Given the description of an element on the screen output the (x, y) to click on. 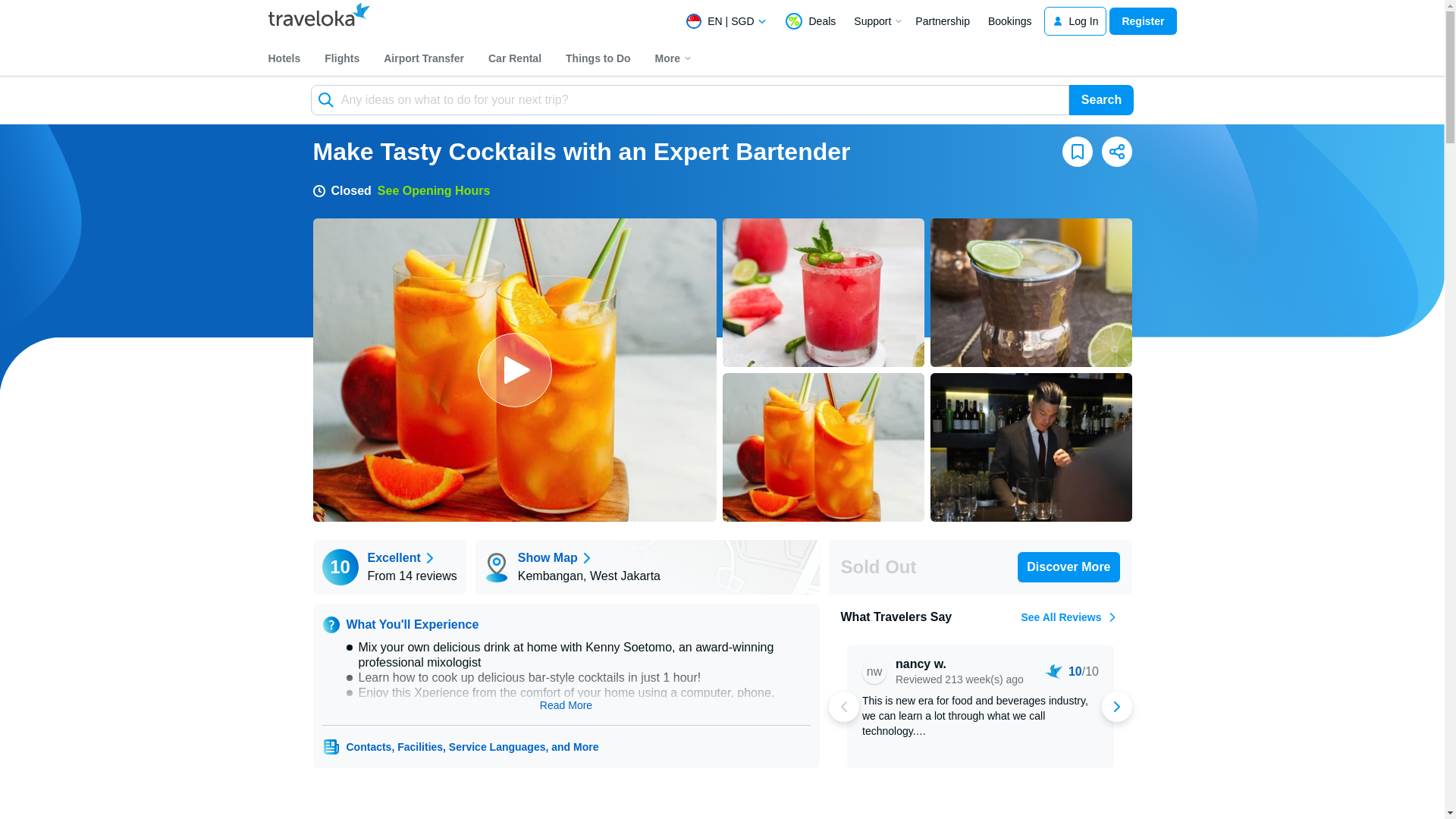
Car Rental (514, 58)
Hotels (284, 58)
Deals (809, 21)
Things to Do (598, 58)
Airport Transfer (423, 58)
Partnership (942, 20)
Bookings (1010, 20)
Flights (341, 58)
